Given the description of an element on the screen output the (x, y) to click on. 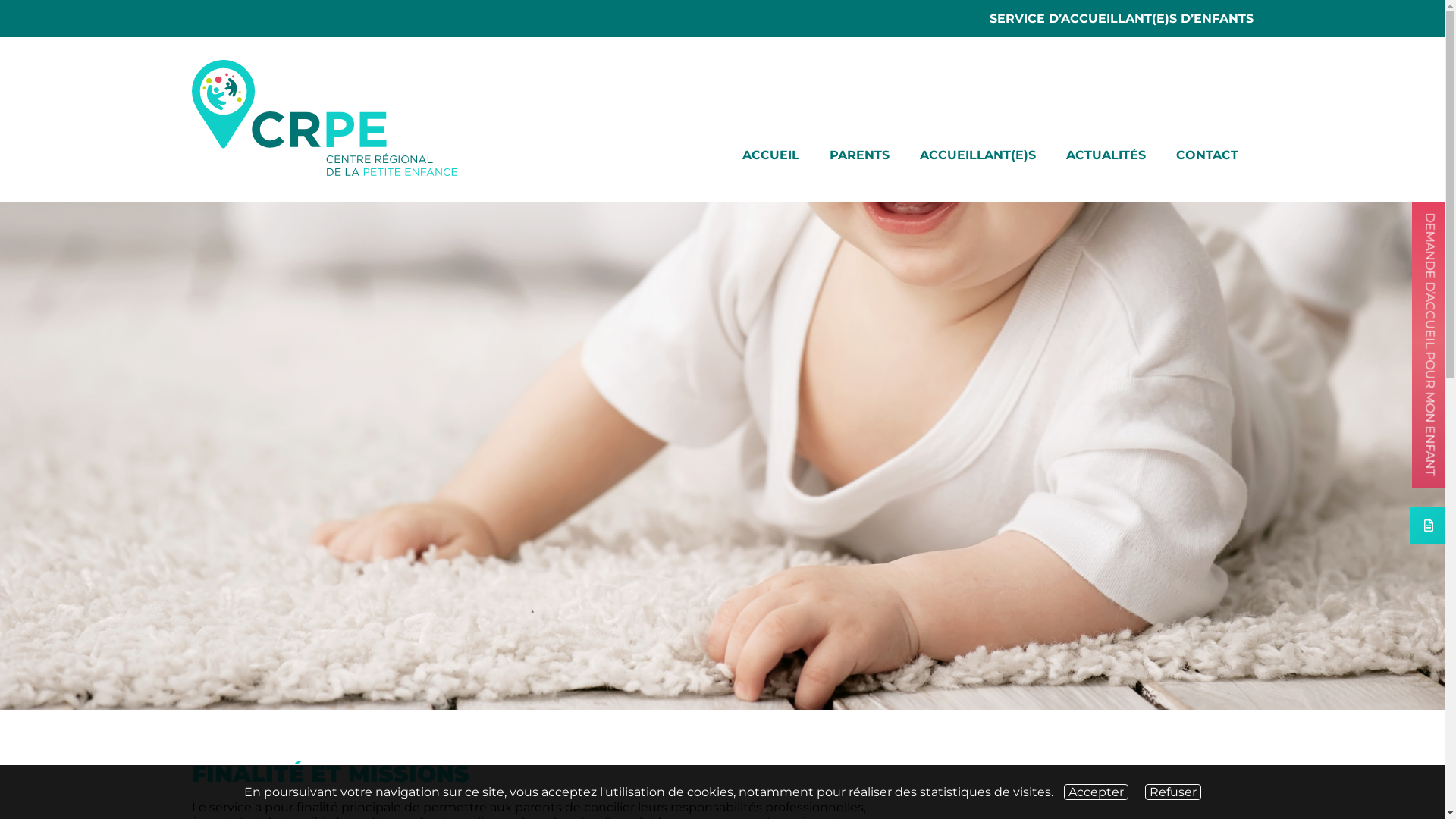
Accepter Element type: text (1095, 792)
crpe Element type: hover (323, 117)
CONTACT Element type: text (1206, 158)
ACCUEIL Element type: text (769, 158)
Refuser Element type: text (1173, 792)
